Given the description of an element on the screen output the (x, y) to click on. 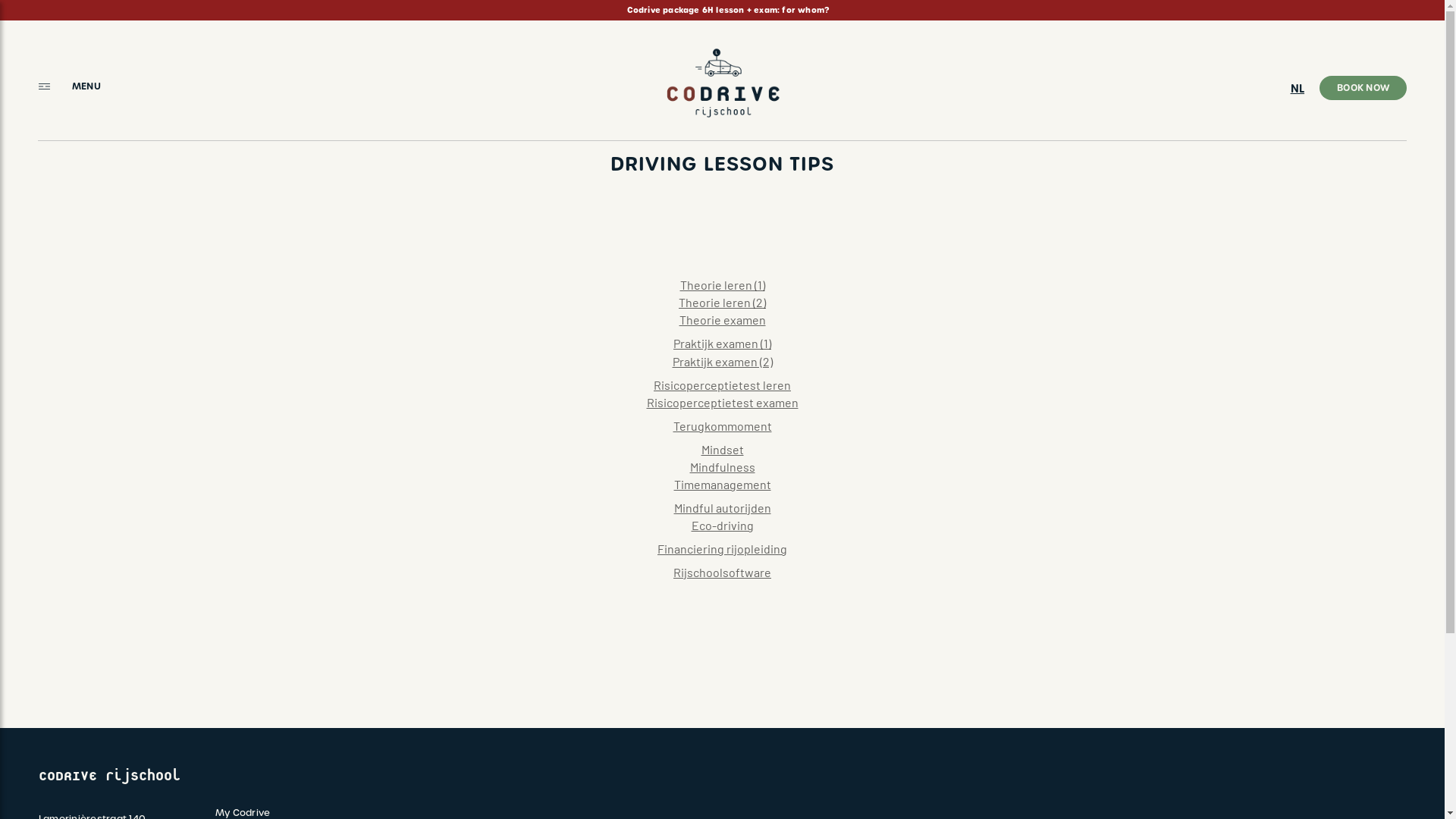
Praktijk examen (2) Element type: text (721, 360)
Praktijk examen (1) Element type: text (722, 342)
Skip to main content Element type: text (0, 0)
Financiering rijopleiding Element type: text (722, 548)
Terugkommoment Element type: text (722, 425)
BOOK NOW Element type: text (1362, 87)
Codrive package 6H lesson + exam: for whom? Element type: text (728, 10)
Mindset Element type: text (721, 449)
Timemanagement Element type: text (721, 483)
Home Element type: hover (722, 80)
Theorie examen Element type: text (722, 319)
NL Element type: text (1297, 88)
My Codrive Element type: text (266, 812)
Rijschoolsoftware Element type: text (722, 571)
Risicoperceptietest examen Element type: text (721, 402)
Theorie leren (2) Element type: text (721, 301)
Eco-driving Element type: text (722, 524)
Mindful autorijden Element type: text (721, 507)
CODRIVE rijschool Element type: text (109, 775)
Mindfulness Element type: text (722, 466)
Risicoperceptietest leren Element type: text (721, 384)
Theorie leren (1) Element type: text (721, 284)
